Given the description of an element on the screen output the (x, y) to click on. 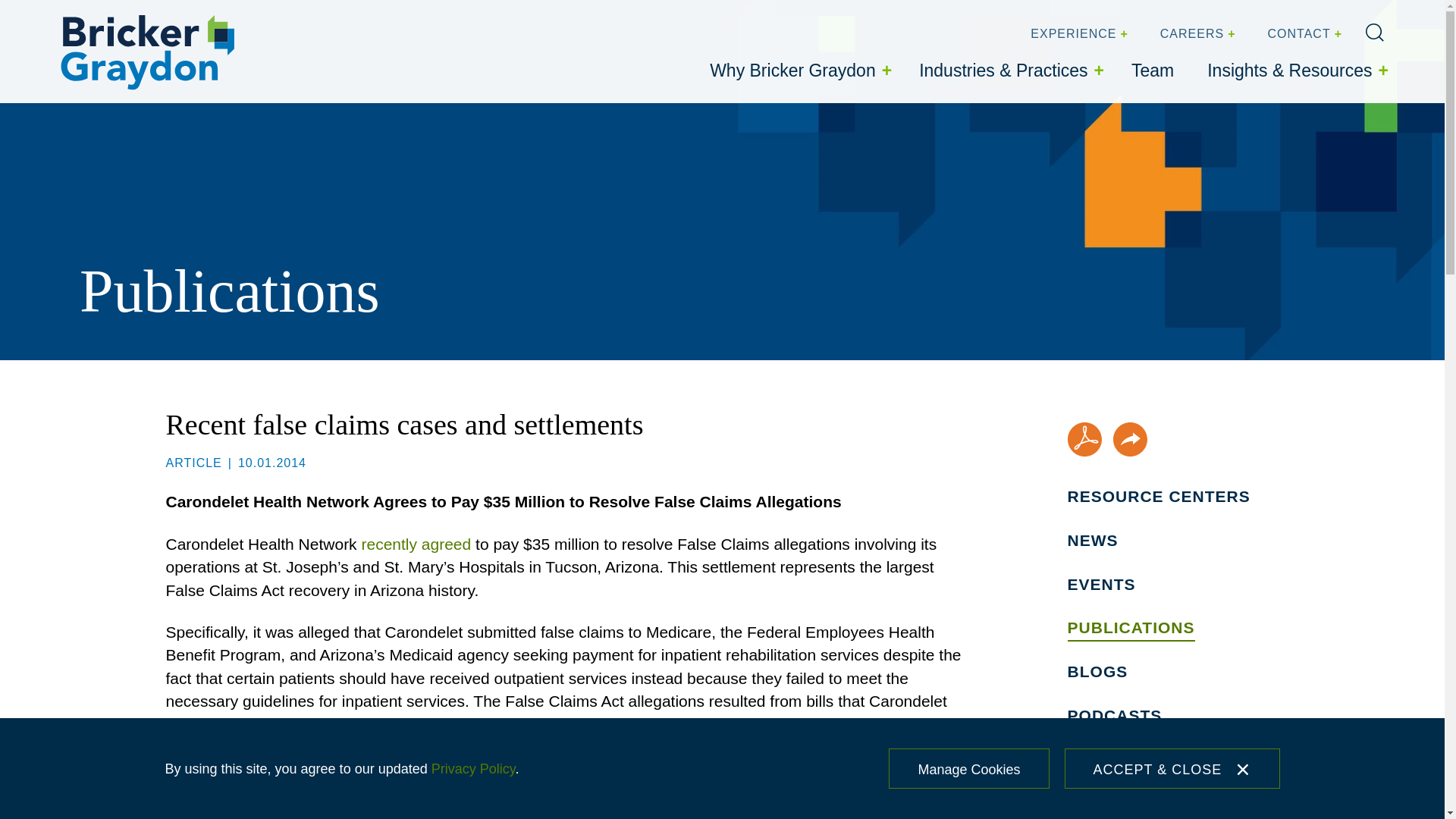
Print PDF (1084, 439)
Search (1374, 32)
CONTACT (1303, 34)
Main Content (674, 16)
CAREERS (1195, 34)
Why Bricker Graydon (797, 70)
Share (1130, 439)
EXPERIENCE (1077, 34)
Main Menu (680, 16)
Team (1153, 70)
Menu (680, 16)
